Given the description of an element on the screen output the (x, y) to click on. 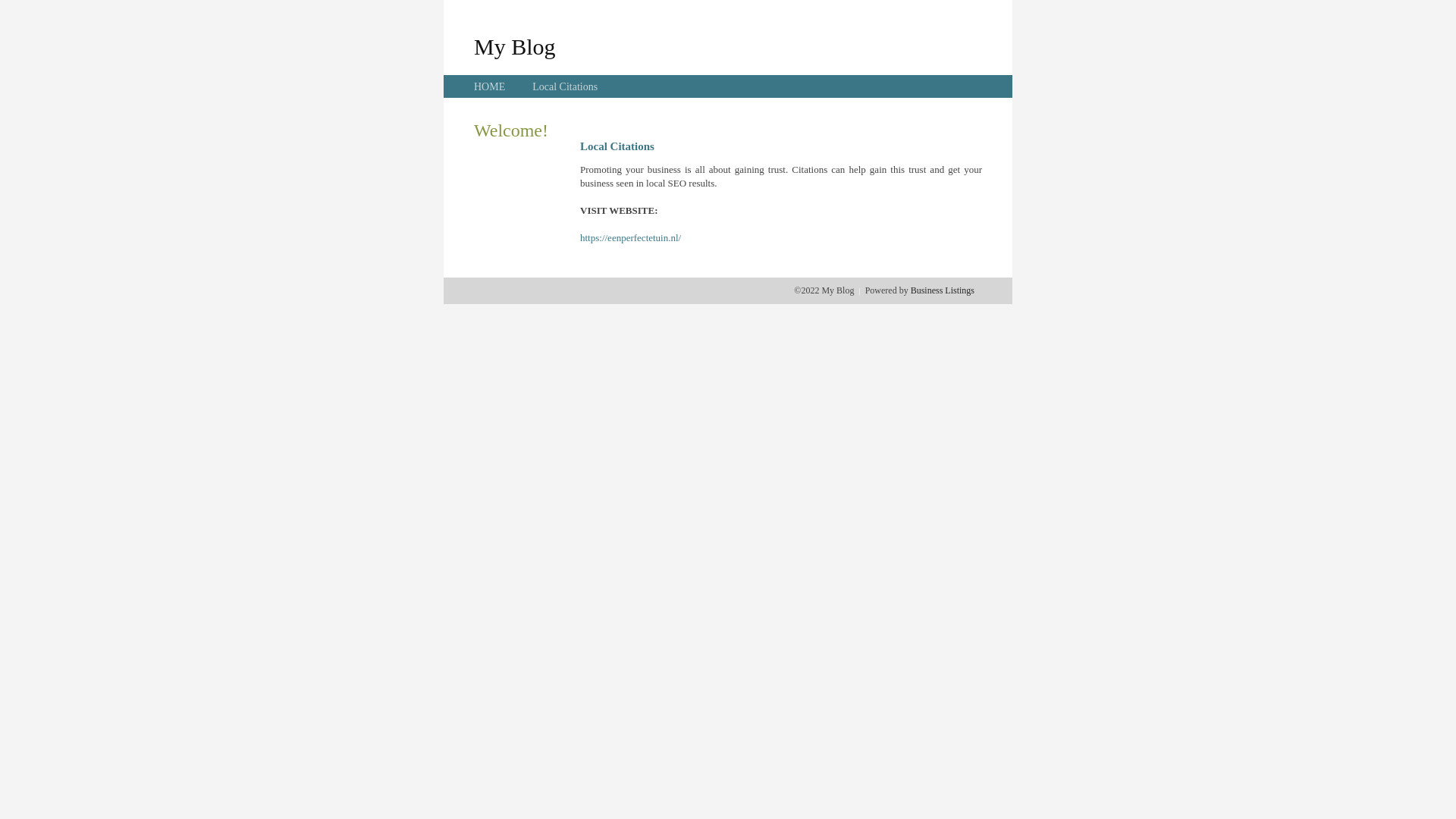
Business Listings Element type: text (942, 290)
Local Citations Element type: text (564, 86)
https://eenperfectetuin.nl/ Element type: text (630, 237)
HOME Element type: text (489, 86)
My Blog Element type: text (514, 46)
